Given the description of an element on the screen output the (x, y) to click on. 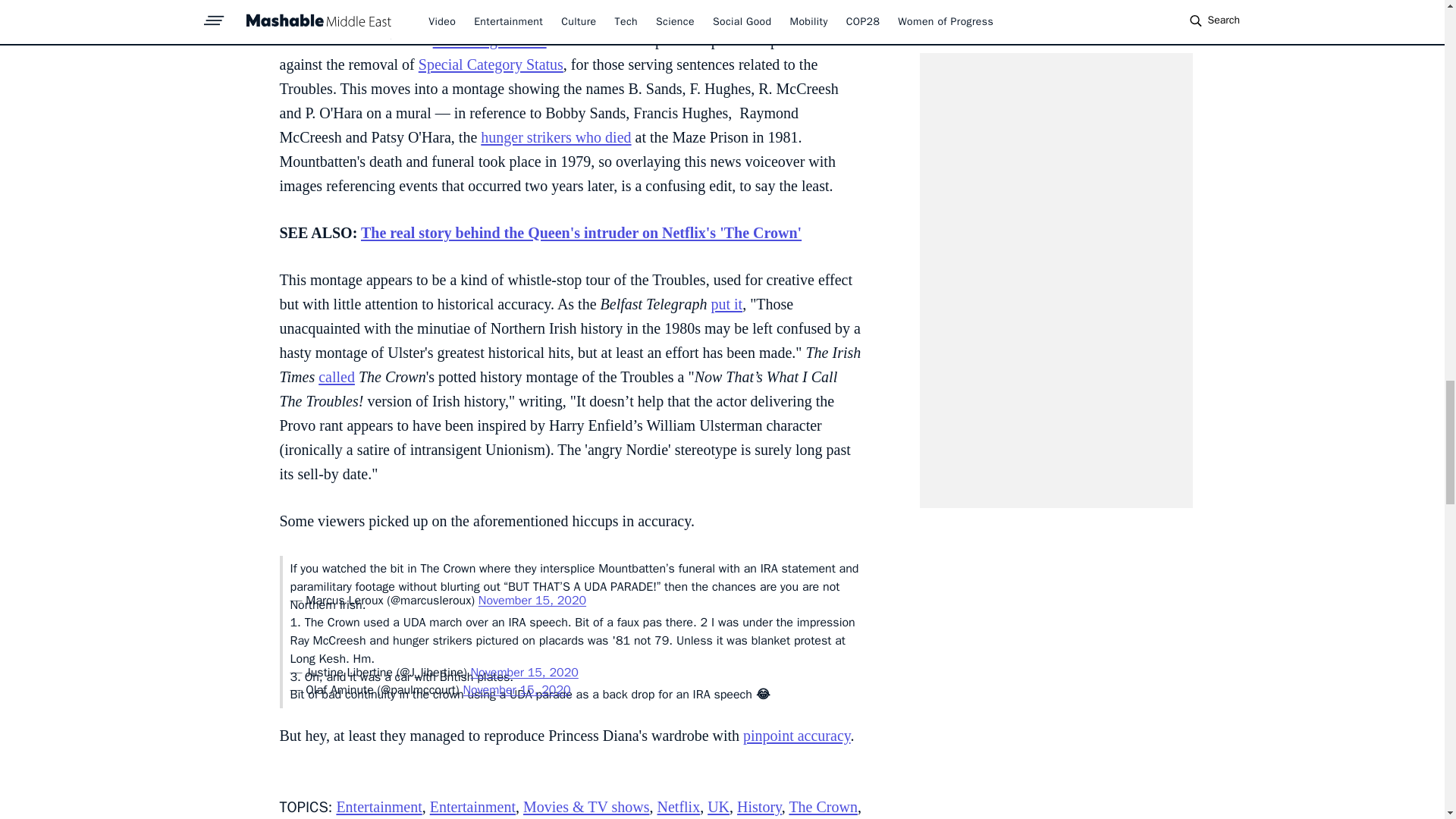
Special Category Status (491, 64)
hunger strikers who died (555, 136)
November 15, 2020 (524, 672)
November 15, 2020 (532, 600)
November 15, 2020 (516, 689)
put it (726, 303)
1981 hunger strike (489, 39)
pinpoint accuracy (796, 735)
called (336, 376)
